Given the description of an element on the screen output the (x, y) to click on. 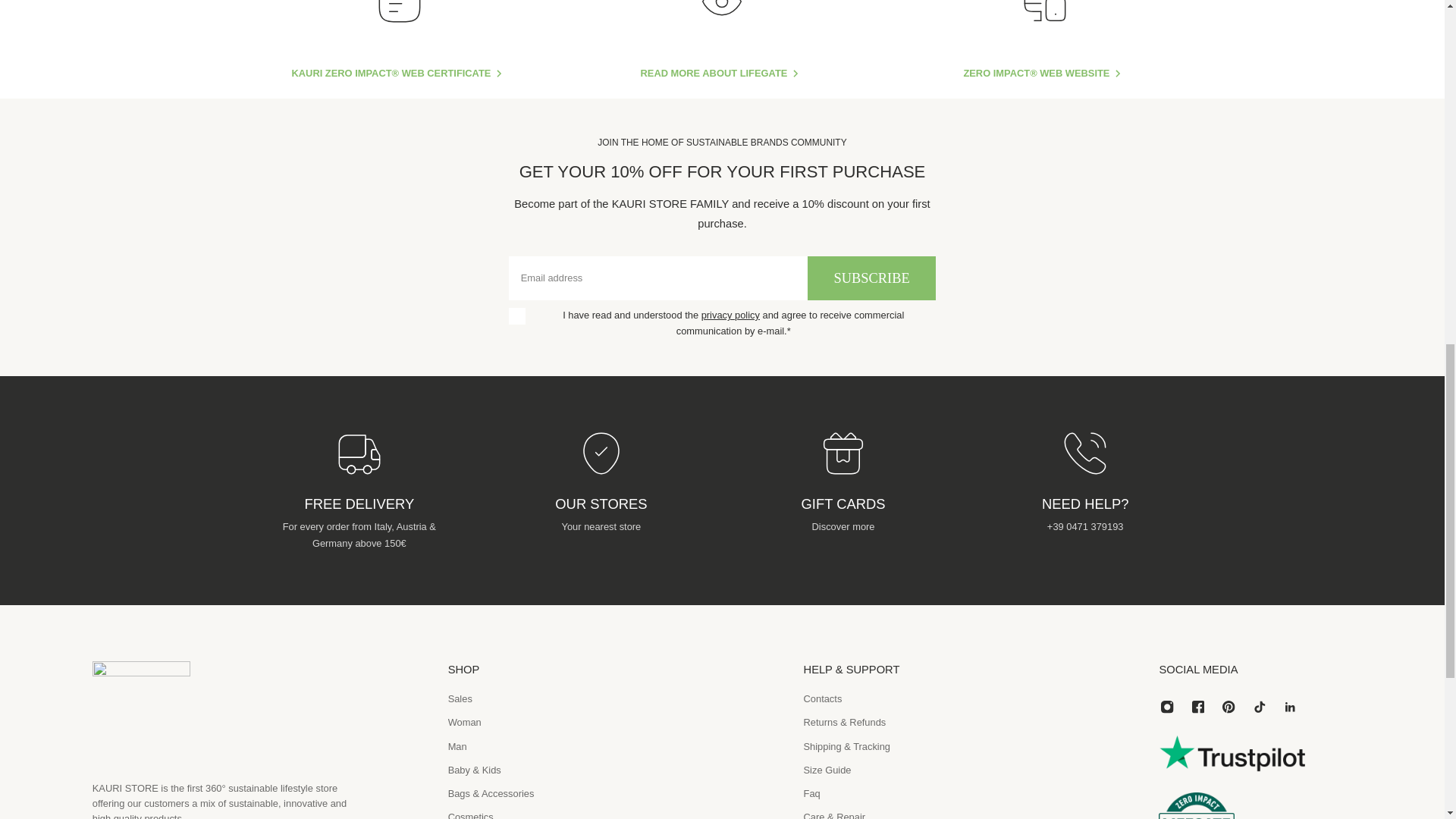
privacy policy (730, 315)
READ MORE ABOUT LIFEGATE (722, 73)
SUBSCRIBE (872, 278)
